Given the description of an element on the screen output the (x, y) to click on. 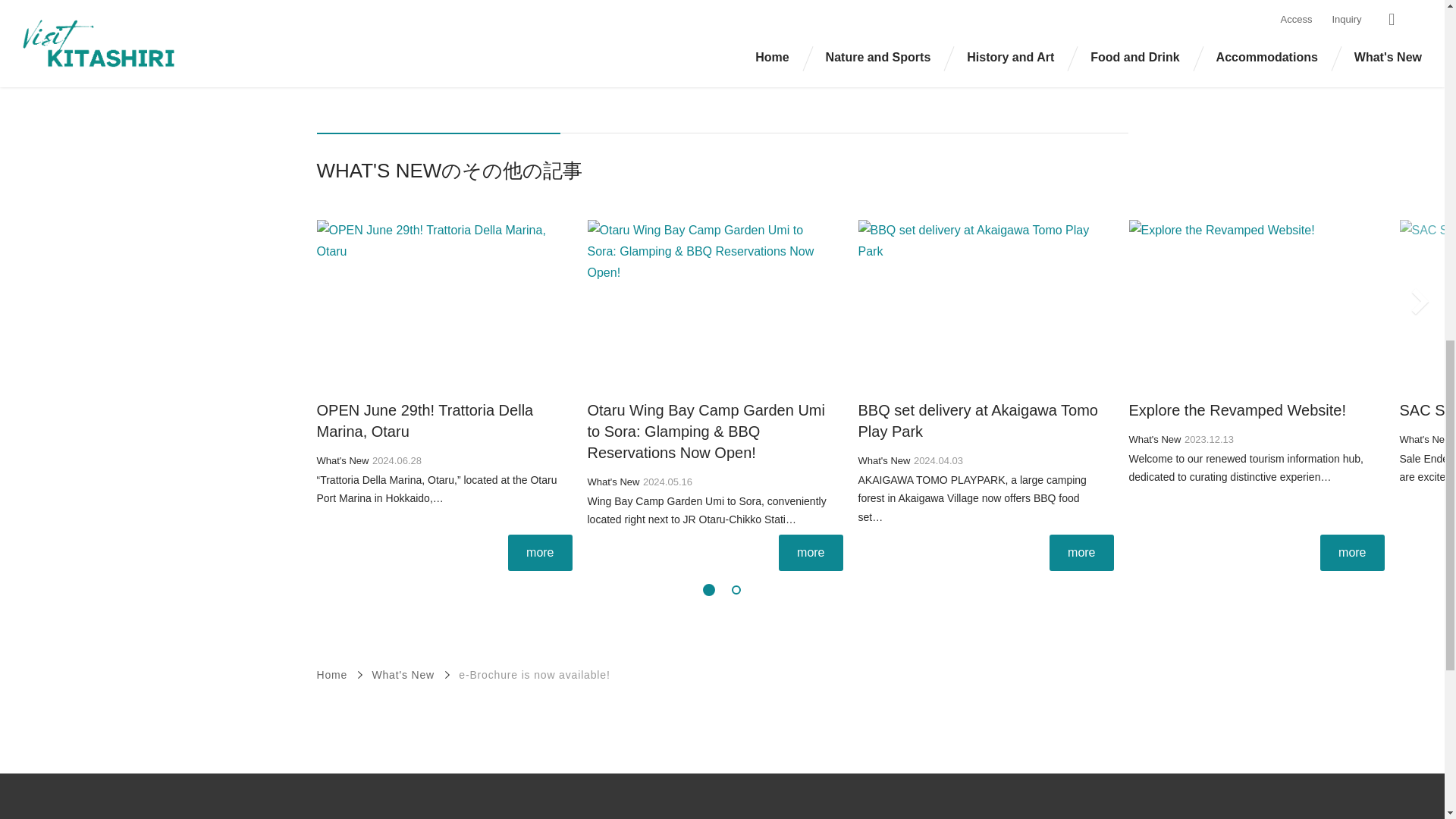
BBQ set delivery at Akaigawa Tomo Play Park (978, 420)
OPEN June 29th! Trattoria Della Marina, Otaru (425, 420)
What's New (885, 460)
Explore the Revamped Website! (508, 72)
more (1352, 552)
What's New (402, 674)
more (540, 552)
What's New (1154, 439)
Explore the Revamped Website! (1236, 410)
more (810, 552)
